Given the description of an element on the screen output the (x, y) to click on. 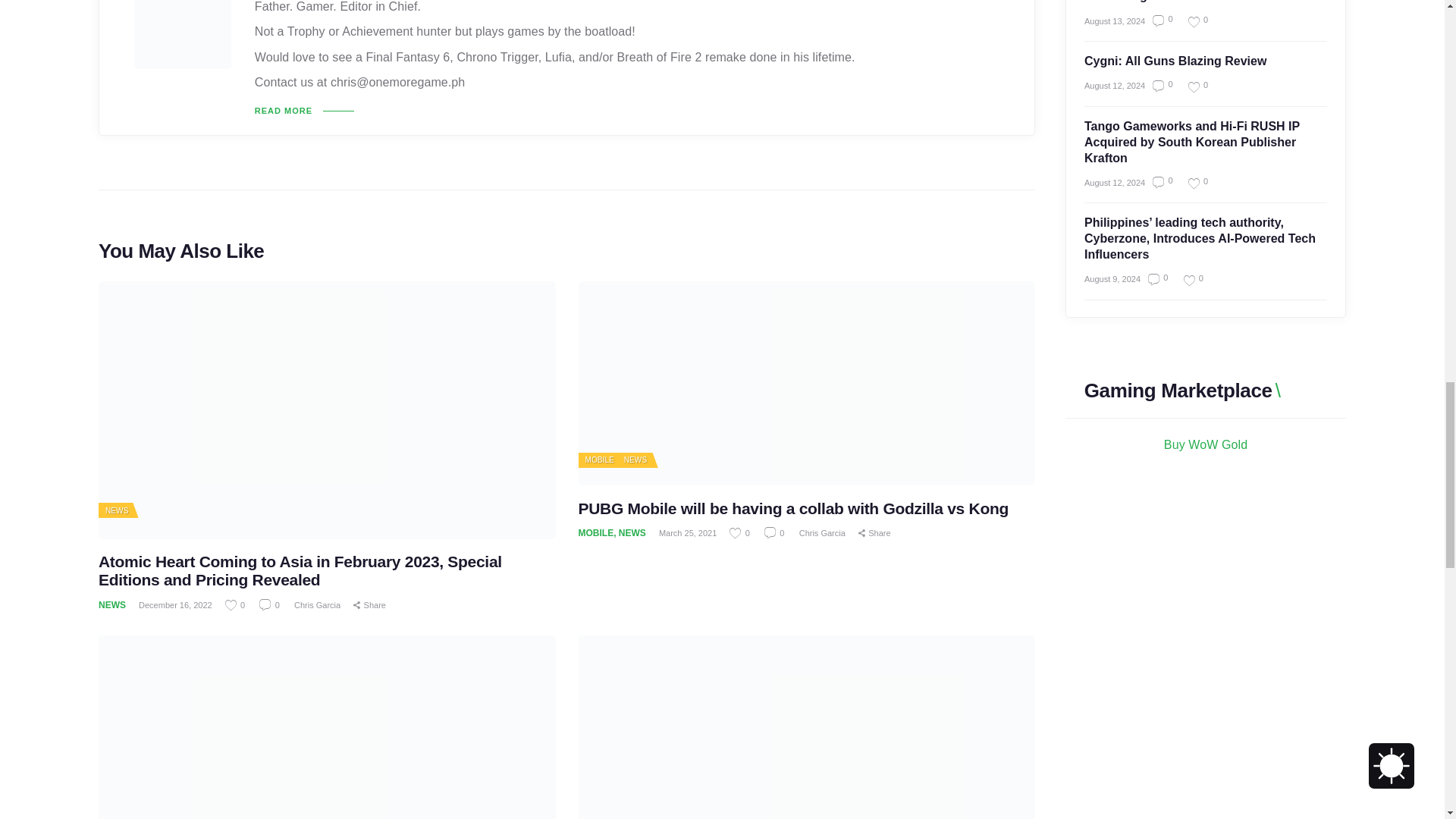
Like (740, 532)
View all posts in News (635, 460)
Like (1191, 86)
View all posts in Mobile (599, 460)
Like (236, 604)
View all posts in News (116, 510)
Like (1191, 21)
